Given the description of an element on the screen output the (x, y) to click on. 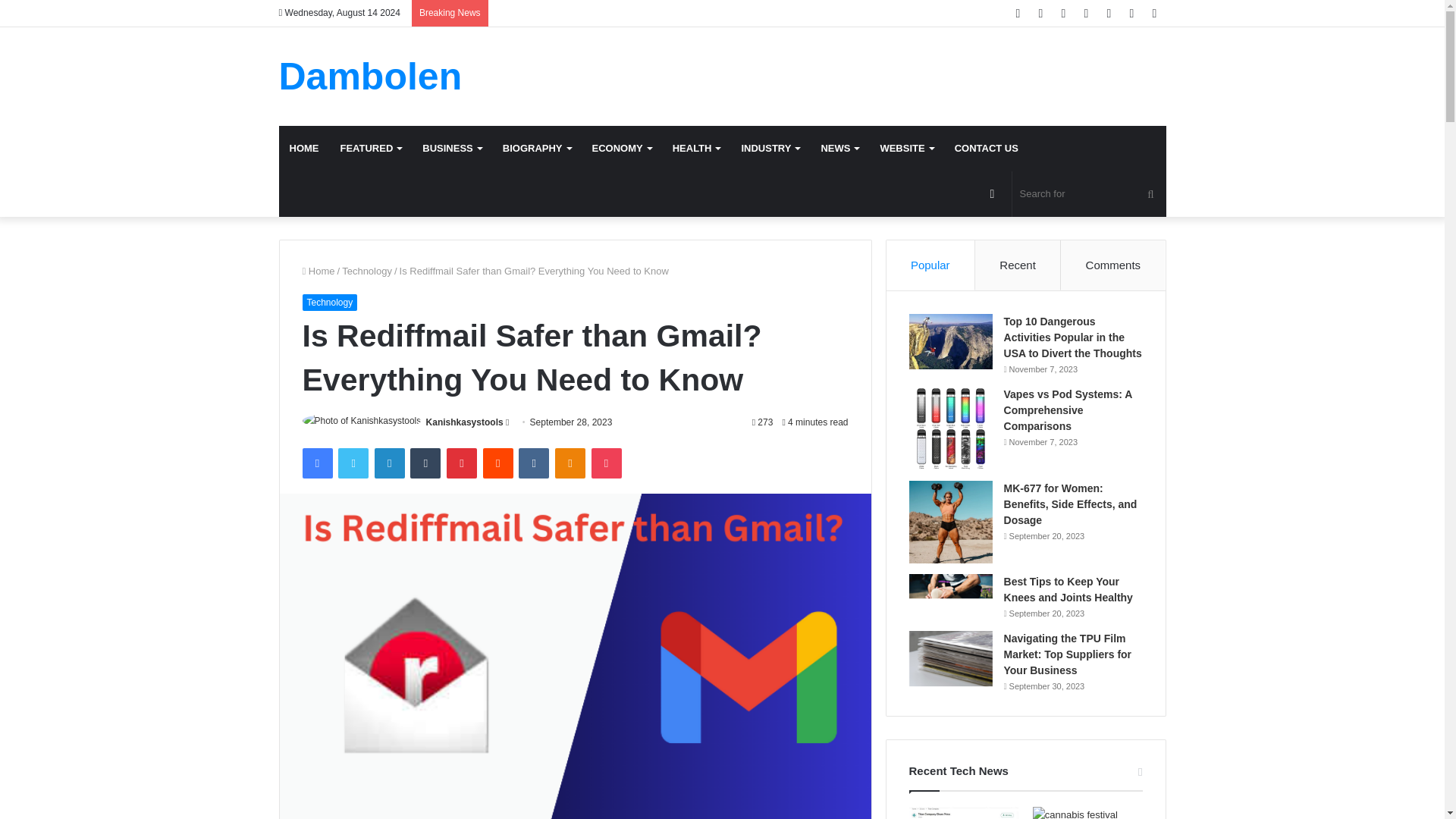
Twitter (352, 462)
Kanishkasystools (464, 421)
LinkedIn (389, 462)
Dambolen (371, 76)
HOME (304, 148)
ECONOMY (621, 148)
Dambolen (371, 76)
Pinterest (461, 462)
VKontakte (533, 462)
BUSINESS (452, 148)
